Given the description of an element on the screen output the (x, y) to click on. 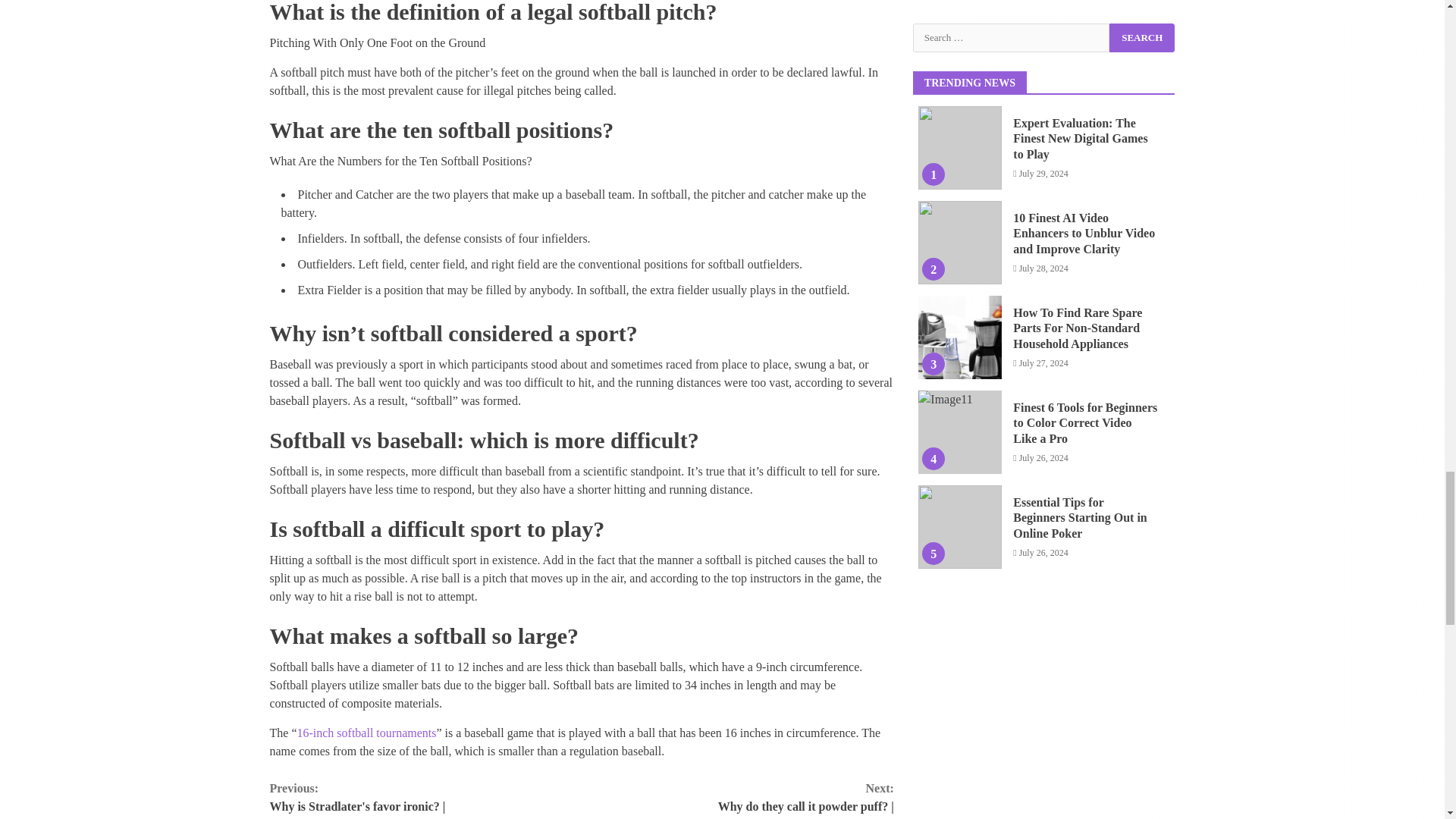
16-inch softball tournaments (366, 732)
